Given the description of an element on the screen output the (x, y) to click on. 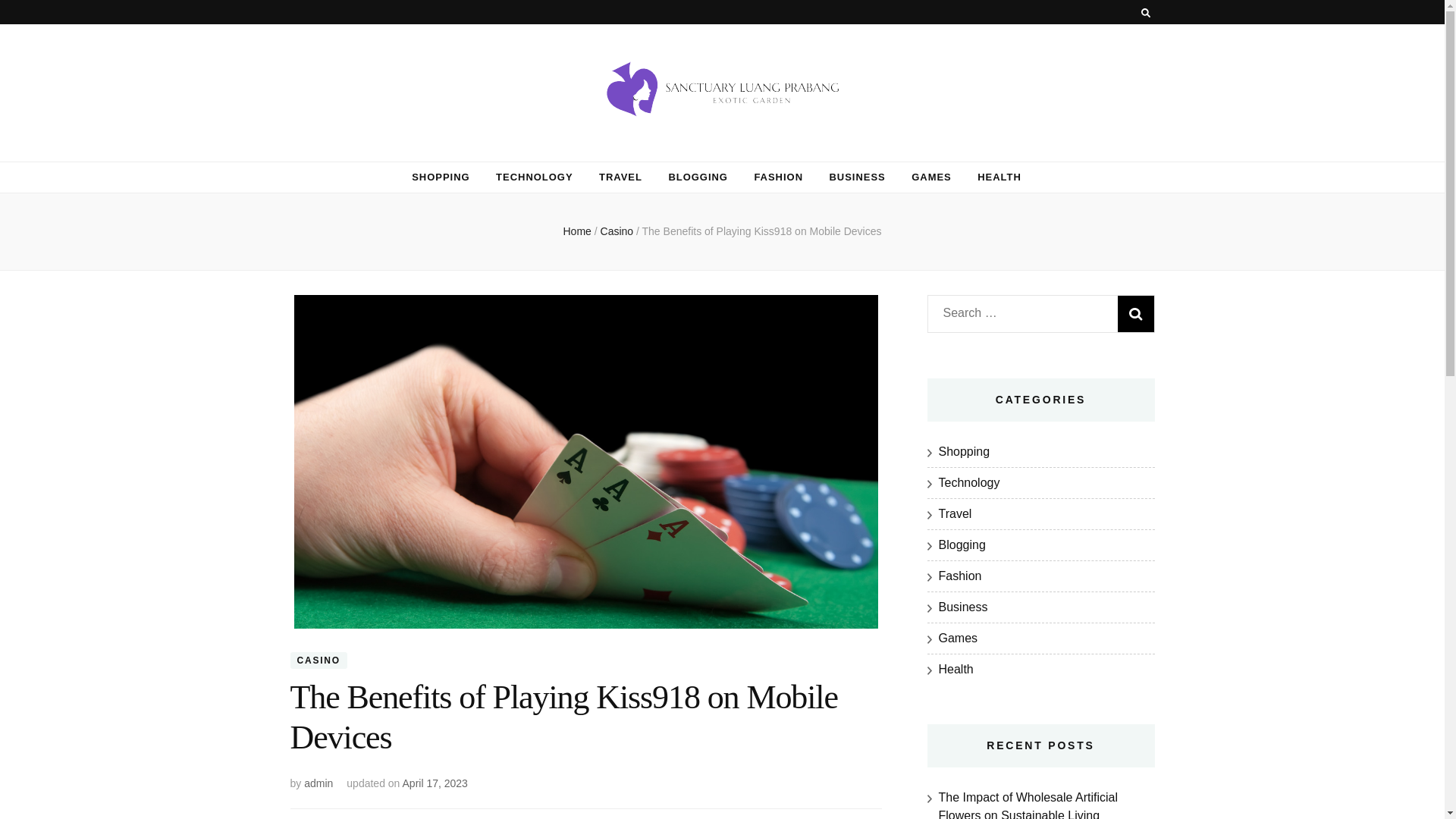
admin (318, 783)
GAMES (931, 177)
Home (576, 231)
Shopping (964, 451)
The Benefits of Playing Kiss918 on Mobile Devices (762, 231)
TECHNOLOGY (534, 177)
Search (1136, 313)
April 17, 2023 (435, 783)
Technology (969, 481)
FASHION (778, 177)
